Given the description of an element on the screen output the (x, y) to click on. 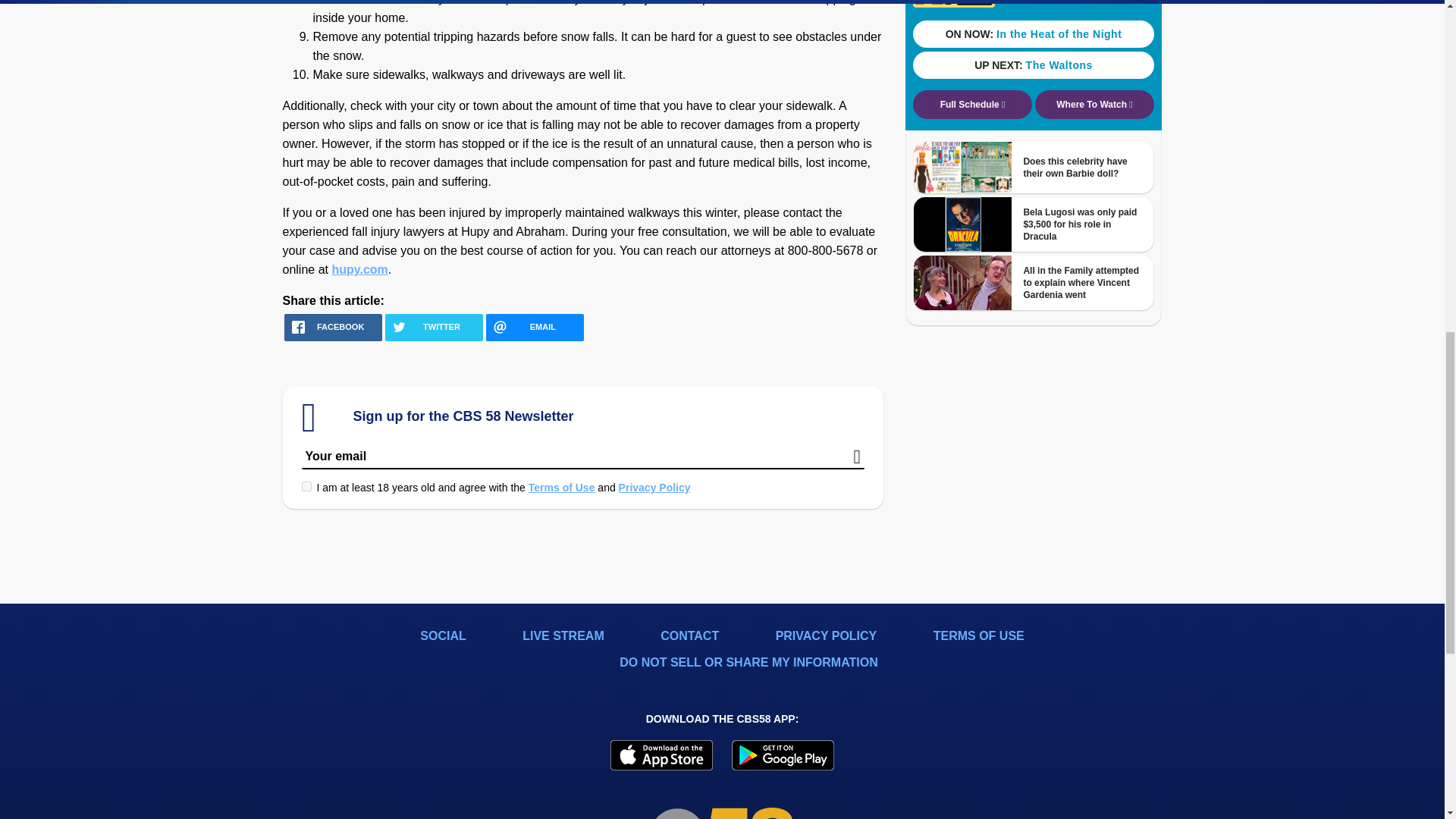
on (306, 486)
